Given the description of an element on the screen output the (x, y) to click on. 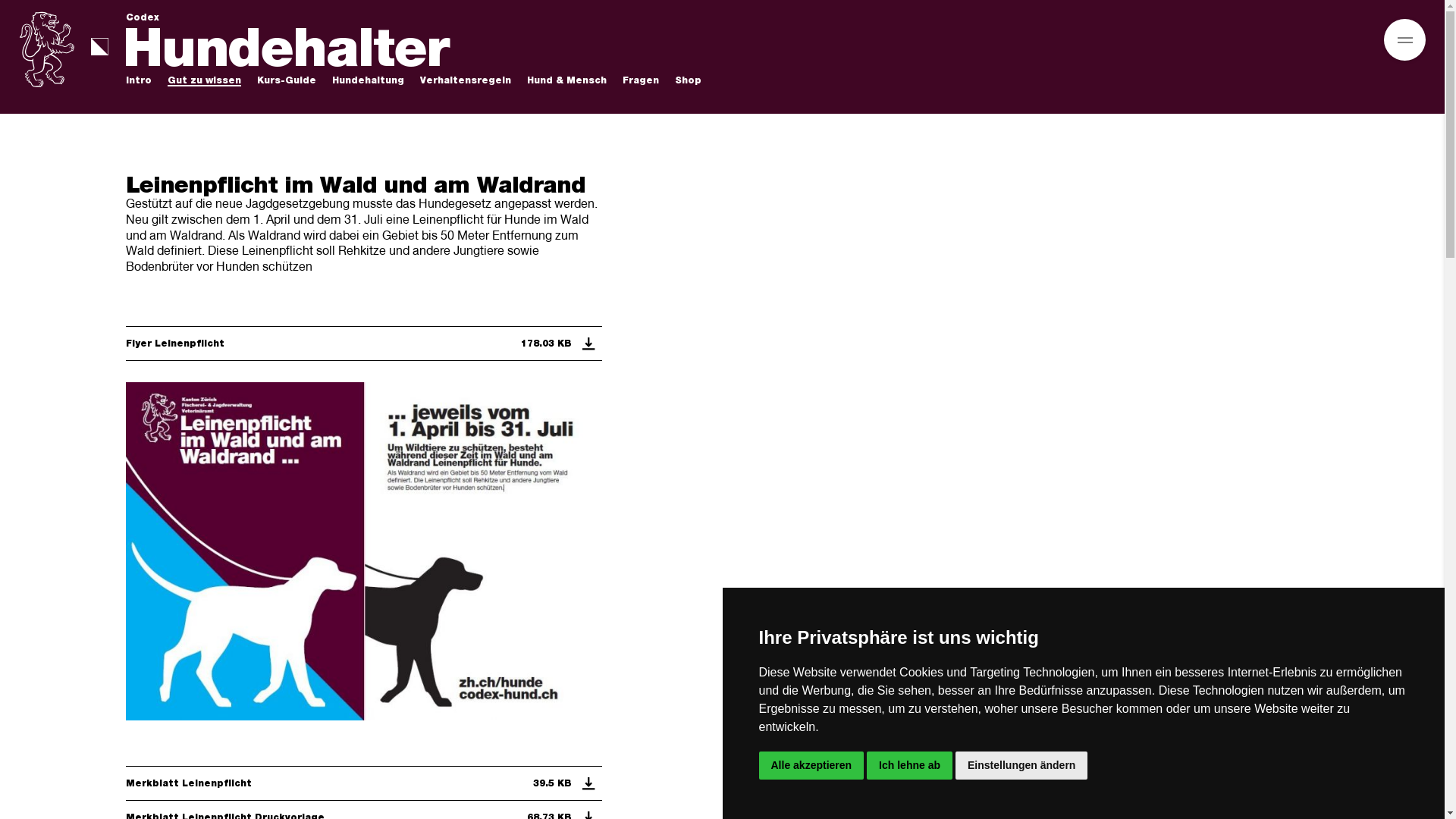
Alle akzeptieren Element type: text (810, 765)
Hund & Mensch Element type: text (566, 80)
Shop Element type: text (687, 80)
Intro Element type: text (138, 80)
Hundehaltung Element type: text (368, 80)
Kurs-Guide Element type: text (286, 80)
Flyer Leinenpflicht
178.03 KB Element type: text (363, 343)
Merkblatt Leinenpflicht
39.5 KB Element type: text (363, 783)
Codex Element type: text (142, 16)
Verhaltensregeln Element type: text (465, 80)
Fragen Element type: text (640, 80)
Ich lehne ab Element type: text (909, 765)
Gut zu wissen Element type: text (204, 80)
